Given the description of an element on the screen output the (x, y) to click on. 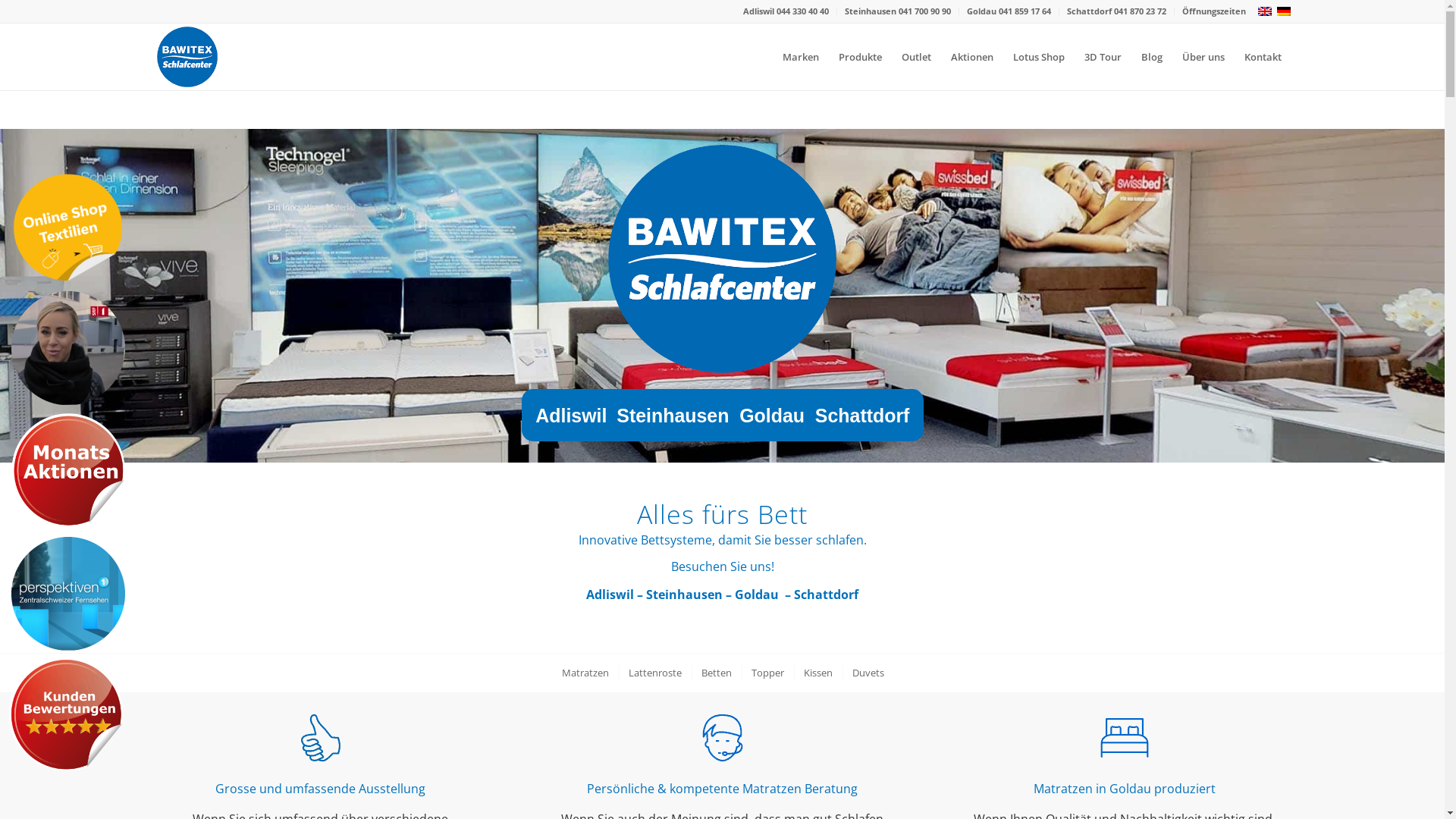
041 700 90 90 Element type: text (923, 10)
Schattdorf Element type: text (825, 594)
Matratzen Element type: text (584, 672)
044 330 40 40 Element type: text (802, 10)
Adliswil Element type: text (759, 10)
Kontakt Element type: text (1262, 56)
Outlet Element type: text (916, 56)
Lotus Shop Element type: text (1037, 56)
041 859 17 64 Element type: text (1023, 10)
Produkte Element type: text (859, 56)
Topper Element type: text (766, 672)
Grosse und umfassende Ausstellung Element type: text (320, 788)
Duvets Element type: text (866, 672)
3D Tour Element type: text (1101, 56)
Adliswil Element type: text (609, 594)
Kissen Element type: text (816, 672)
Schattdorf Element type: text (1089, 10)
Lattenroste Element type: text (653, 672)
Betten Element type: text (715, 672)
Deutsch Element type: hover (1282, 11)
Matratzen in Goldau produziert Element type: text (1123, 788)
Blog Element type: text (1151, 56)
English Element type: hover (1264, 11)
Steinhausen Element type: text (871, 10)
041 870 23 72 Element type: text (1139, 10)
Bawitex Schlafcenter Beratung Element type: hover (721, 737)
Steinhausen Element type: text (684, 594)
Marken Element type: text (799, 56)
Goldau Element type: text (756, 594)
Aktionen Element type: text (971, 56)
Bawitex Schlafcenter Ausstellung Element type: hover (319, 737)
Goldau Element type: text (981, 10)
Bawitex Schlafcenter Matratzen Produktion Element type: hover (1123, 737)
